Given the description of an element on the screen output the (x, y) to click on. 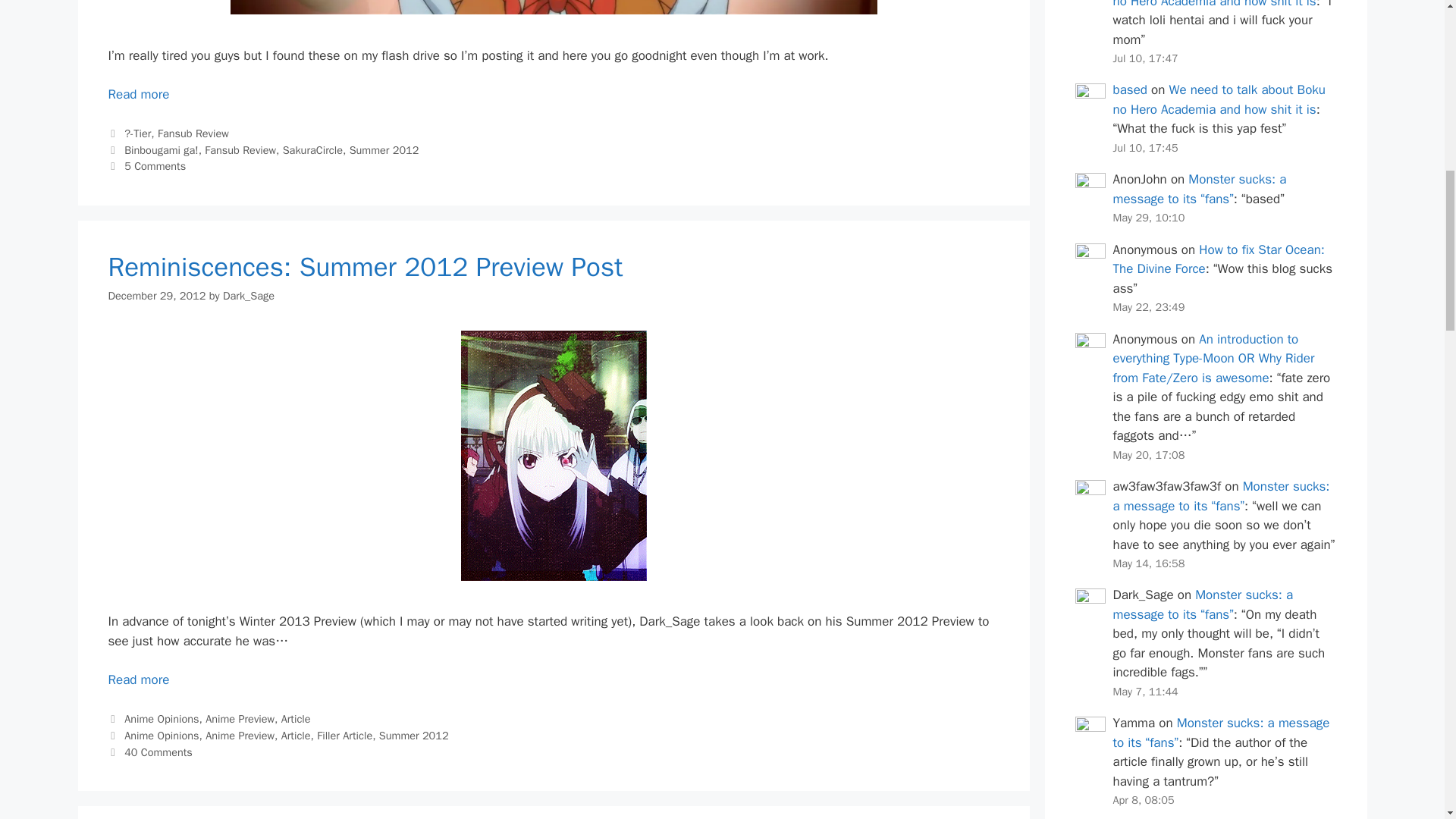
5 Comments (154, 165)
Read more (137, 94)
Anime Preview (240, 735)
40 Comments (157, 752)
Read more (137, 679)
Article (296, 718)
Reminiscences: Summer 2012 Preview Post (137, 679)
SakuraCircle (312, 150)
Summer 2012 (413, 735)
Anime Opinions (160, 735)
